Given the description of an element on the screen output the (x, y) to click on. 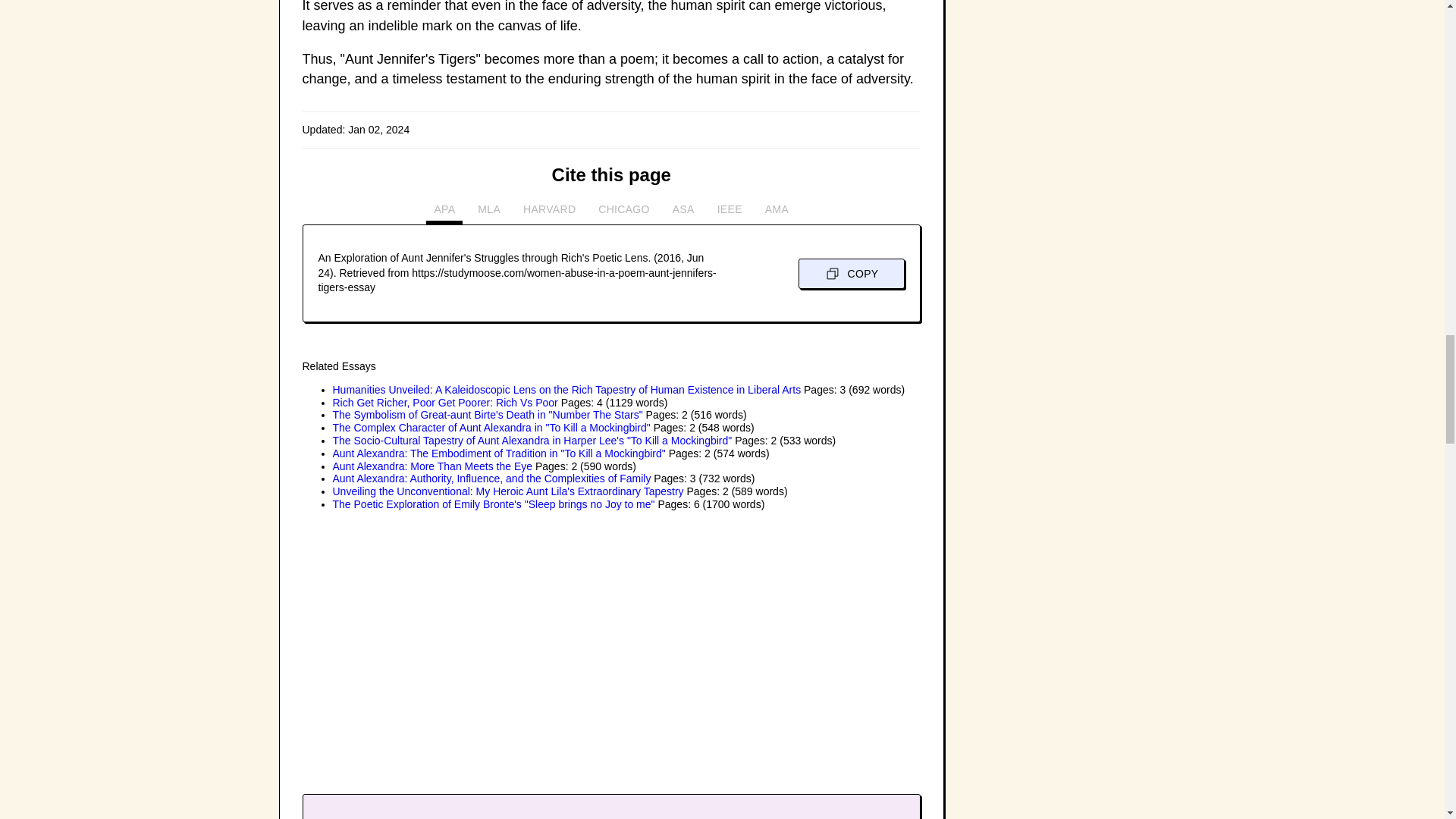
APA (444, 213)
HARVARD (549, 213)
MLA (489, 213)
